Given the description of an element on the screen output the (x, y) to click on. 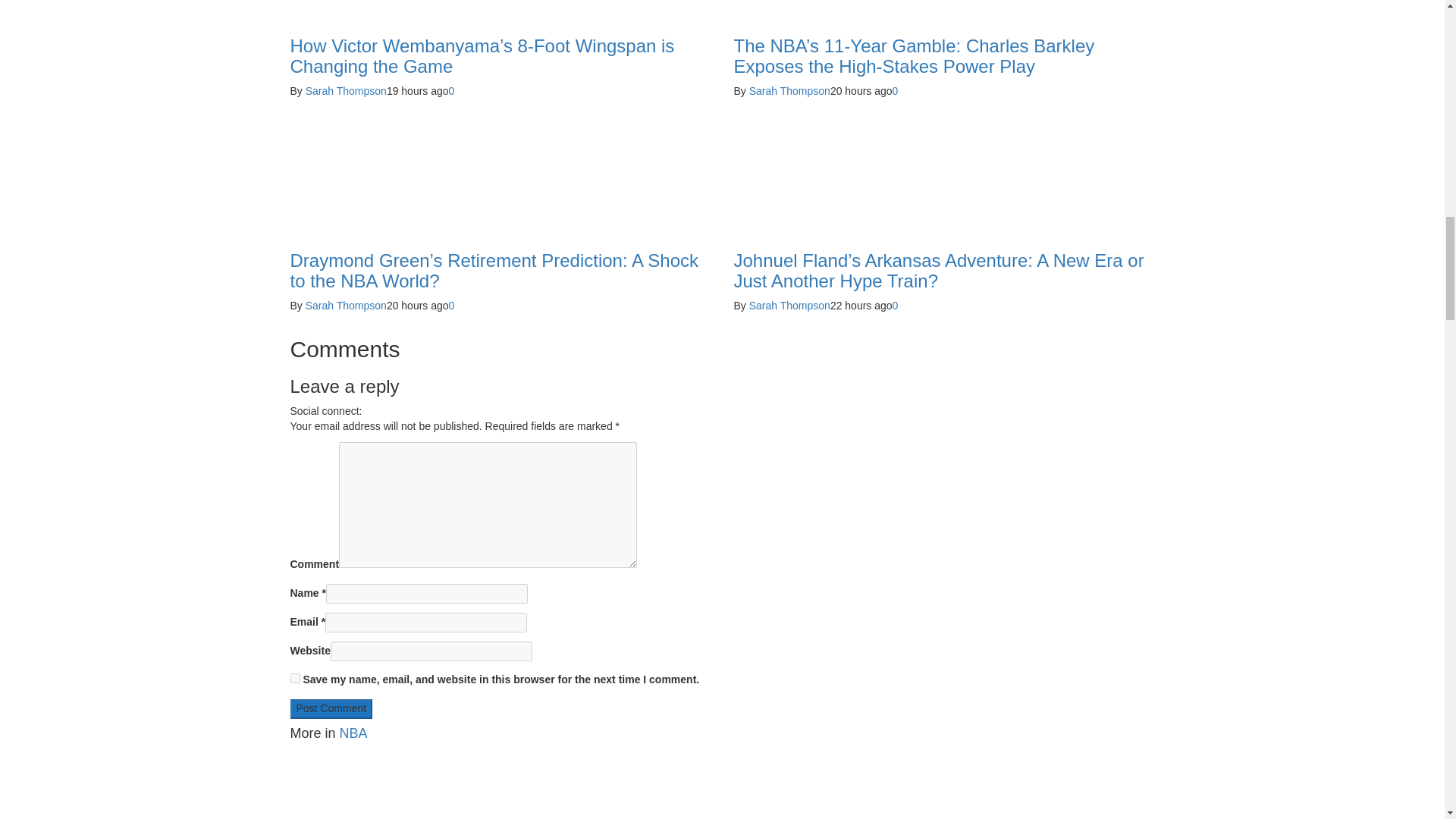
July 27, 2024 at 6:26 pm (417, 91)
yes (294, 678)
0 Comments (451, 91)
Post Comment (330, 709)
